Given the description of an element on the screen output the (x, y) to click on. 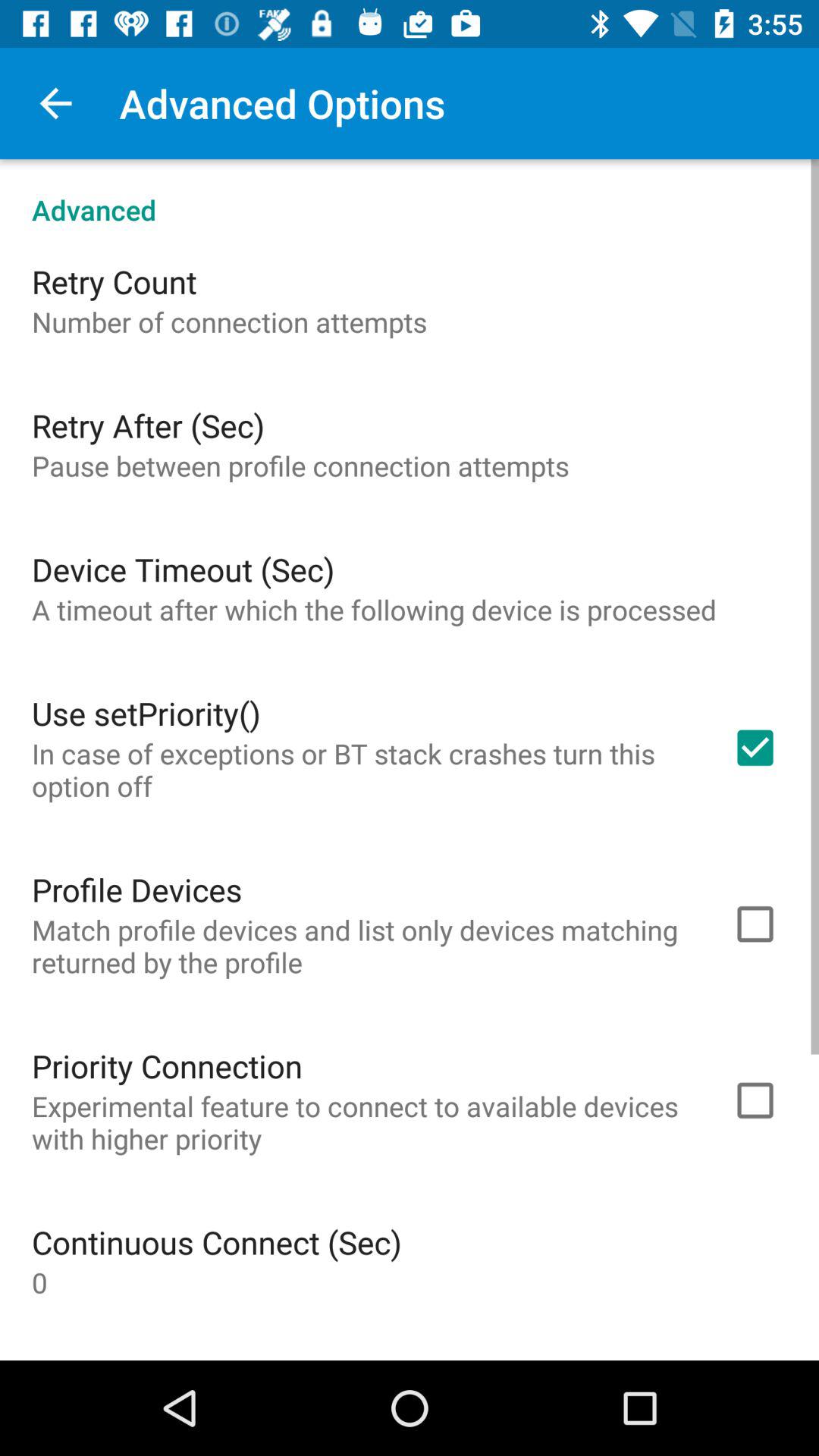
press item below the experimental feature to item (216, 1241)
